Given the description of an element on the screen output the (x, y) to click on. 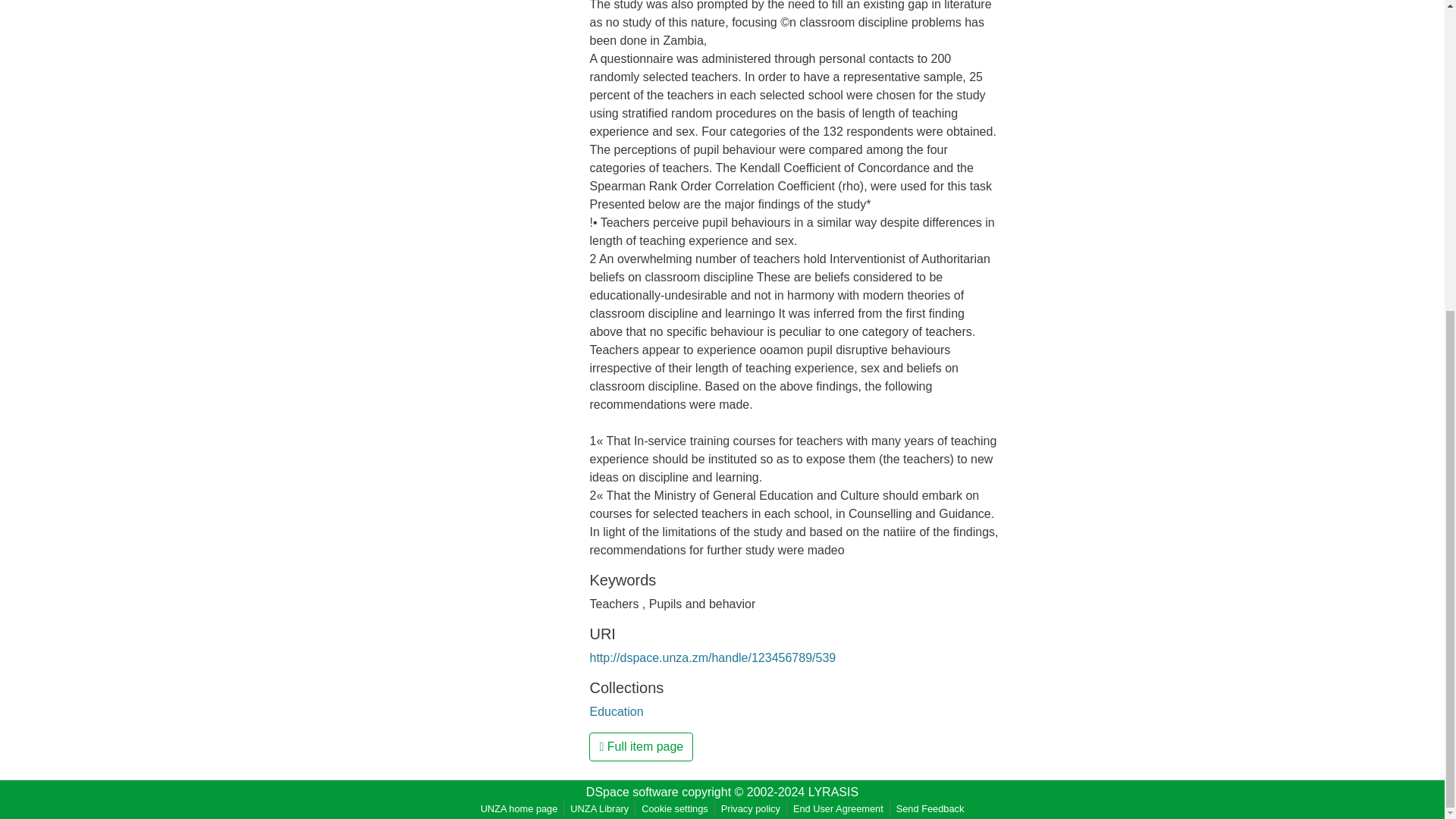
Cookie settings (674, 808)
Full item page (641, 746)
Education (616, 711)
UNZA Library (599, 808)
LYRASIS (833, 791)
Send Feedback (930, 808)
UNZA home page (519, 808)
Privacy policy (750, 808)
DSpace software (632, 791)
End User Agreement (838, 808)
